Given the description of an element on the screen output the (x, y) to click on. 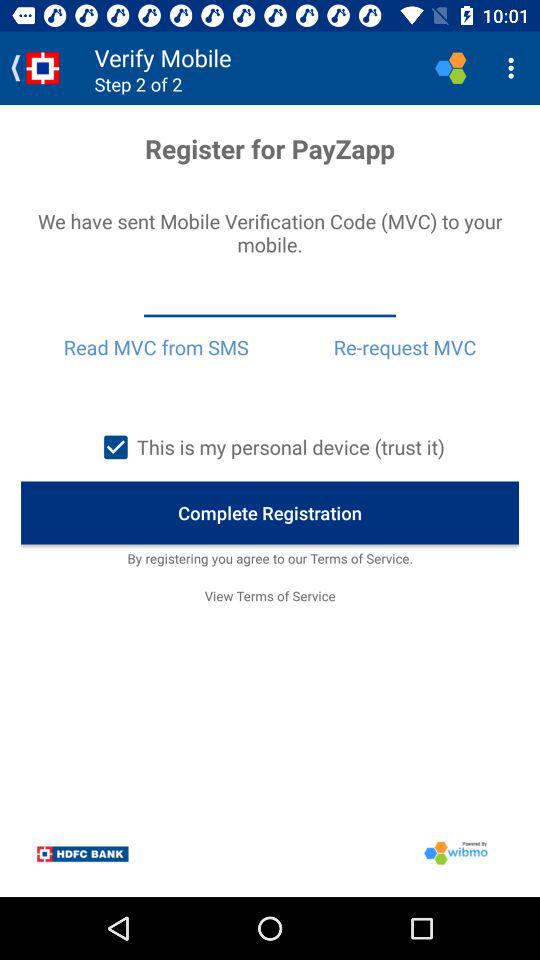
flip to read mvc from item (155, 347)
